Given the description of an element on the screen output the (x, y) to click on. 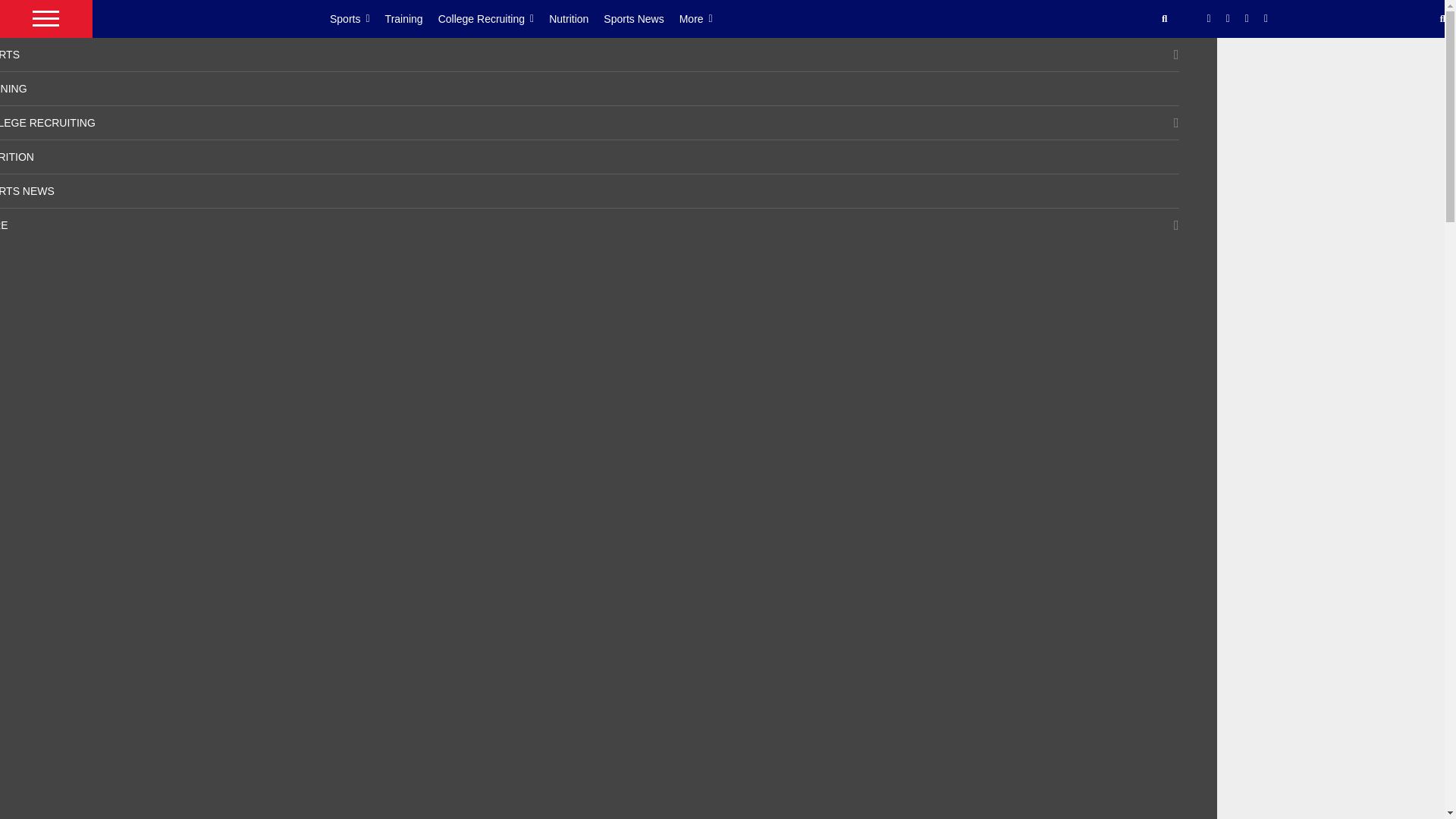
SPORTS (10, 54)
College Recruiting (494, 18)
More (703, 18)
Nutrition (576, 18)
Training (411, 18)
Sports (357, 18)
Sports News (641, 18)
